Given the description of an element on the screen output the (x, y) to click on. 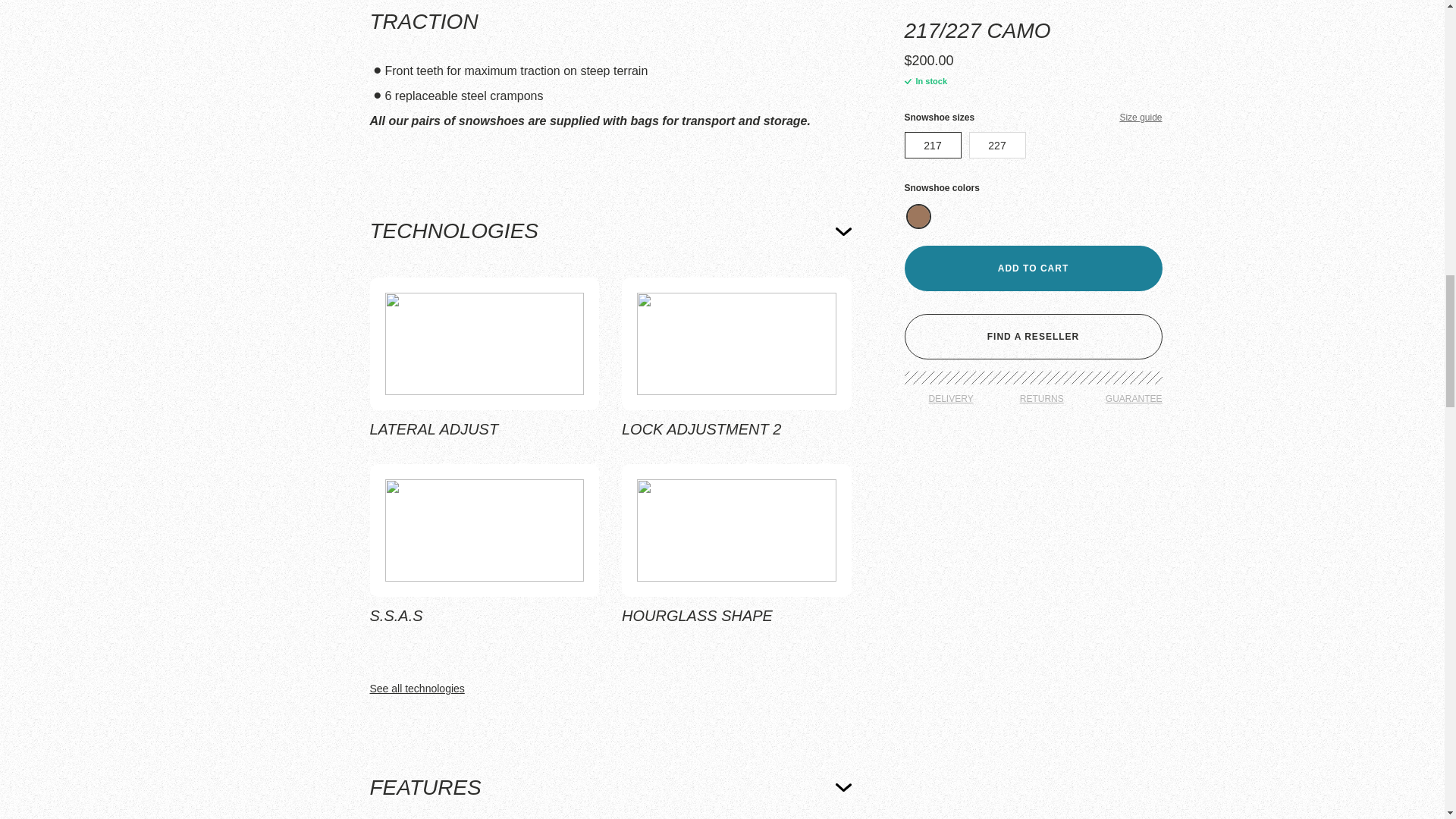
S.S.A.S (484, 546)
LOCK ADJUSTMENT 2 (736, 359)
LATERAL ADJUST (484, 359)
HOURGLASS SHAPE (736, 546)
See all technologies (610, 688)
